Given the description of an element on the screen output the (x, y) to click on. 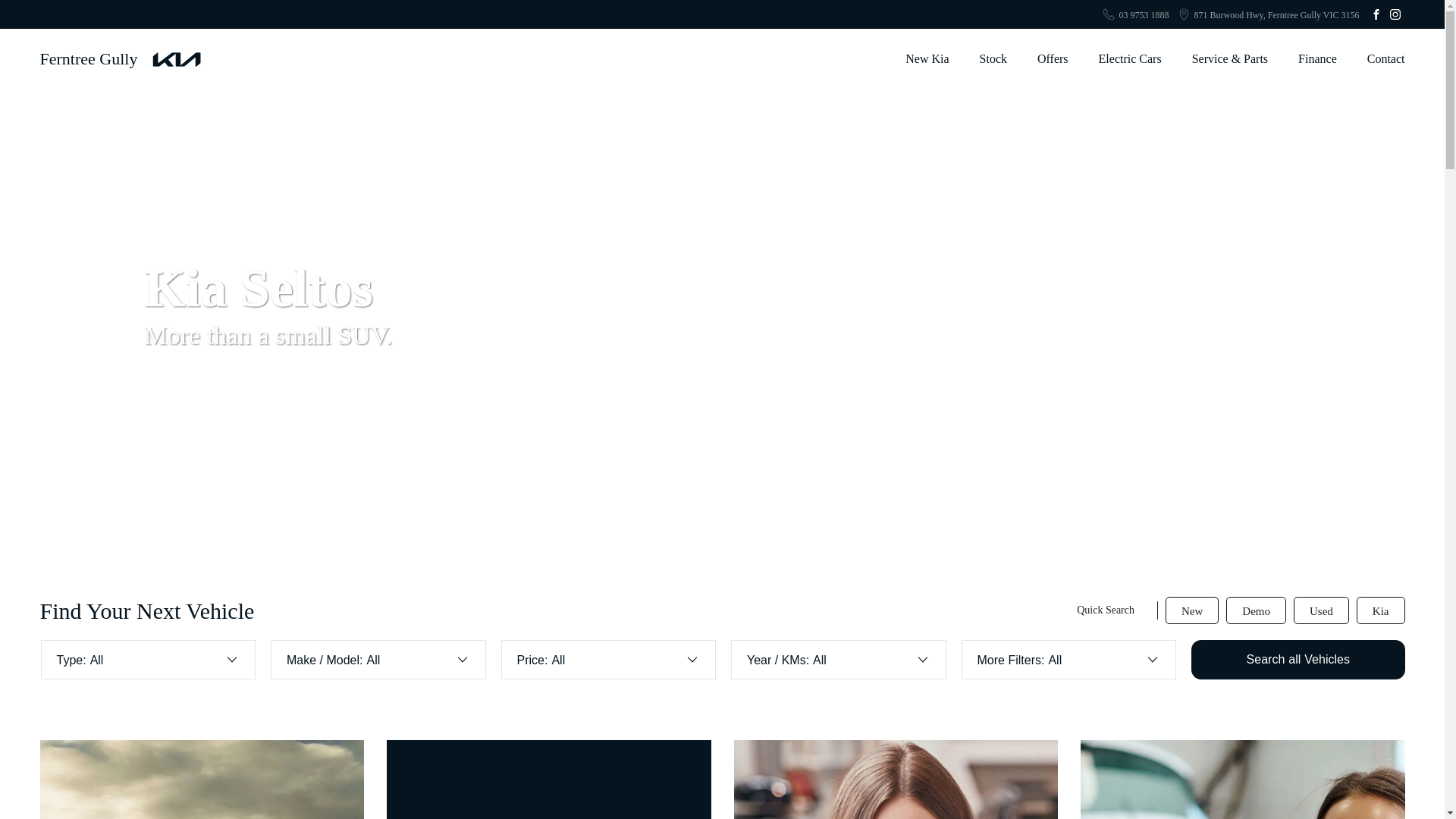
Offers Element type: text (1052, 58)
Electric Cars Element type: text (1129, 58)
Kia Element type: text (1380, 610)
Ferntree Gully Element type: text (119, 59)
Contact Element type: text (1378, 58)
Finance Element type: text (1317, 58)
03 9753 1888 Element type: text (1144, 15)
New Kia Element type: text (926, 58)
871 Burwood Hwy, Ferntree Gully VIC 3156 Element type: text (1276, 15)
Stock Element type: text (993, 58)
New Element type: text (1191, 610)
Service & Parts Element type: text (1229, 58)
Demo Element type: text (1256, 610)
Used Element type: text (1321, 610)
Search
all
Vehicles Element type: text (1298, 659)
Explore Now Element type: text (490, 382)
